Given the description of an element on the screen output the (x, y) to click on. 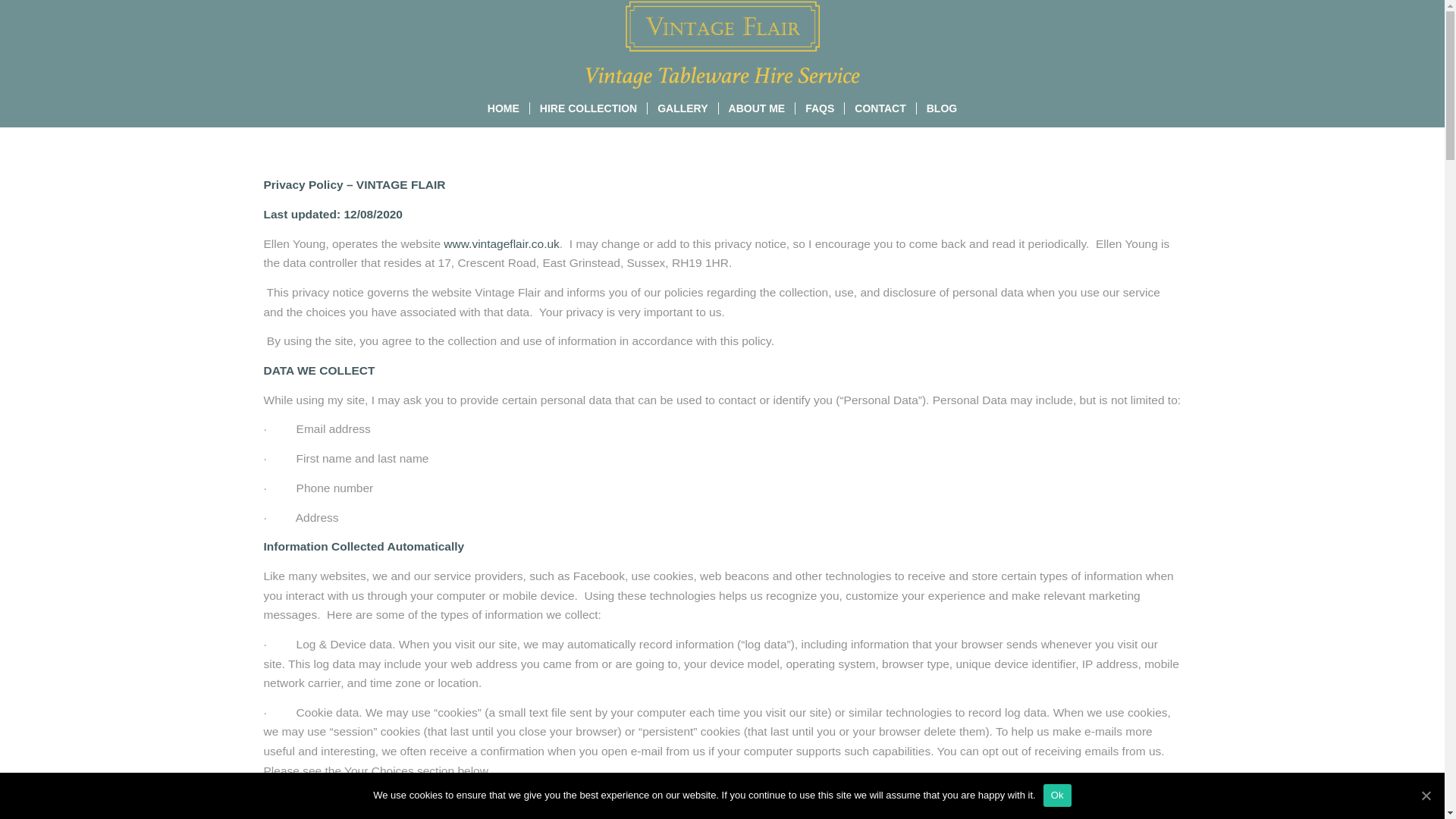
HIRE COLLECTION (587, 108)
Pinterest (1169, 44)
CONTACT (879, 108)
www.vintageflair.co.uk (501, 243)
Facebook (1124, 44)
Instagram (1146, 44)
BLOG (940, 108)
HOME (503, 108)
GALLERY (681, 108)
FAQS (819, 108)
ABOUT ME (755, 108)
